Given the description of an element on the screen output the (x, y) to click on. 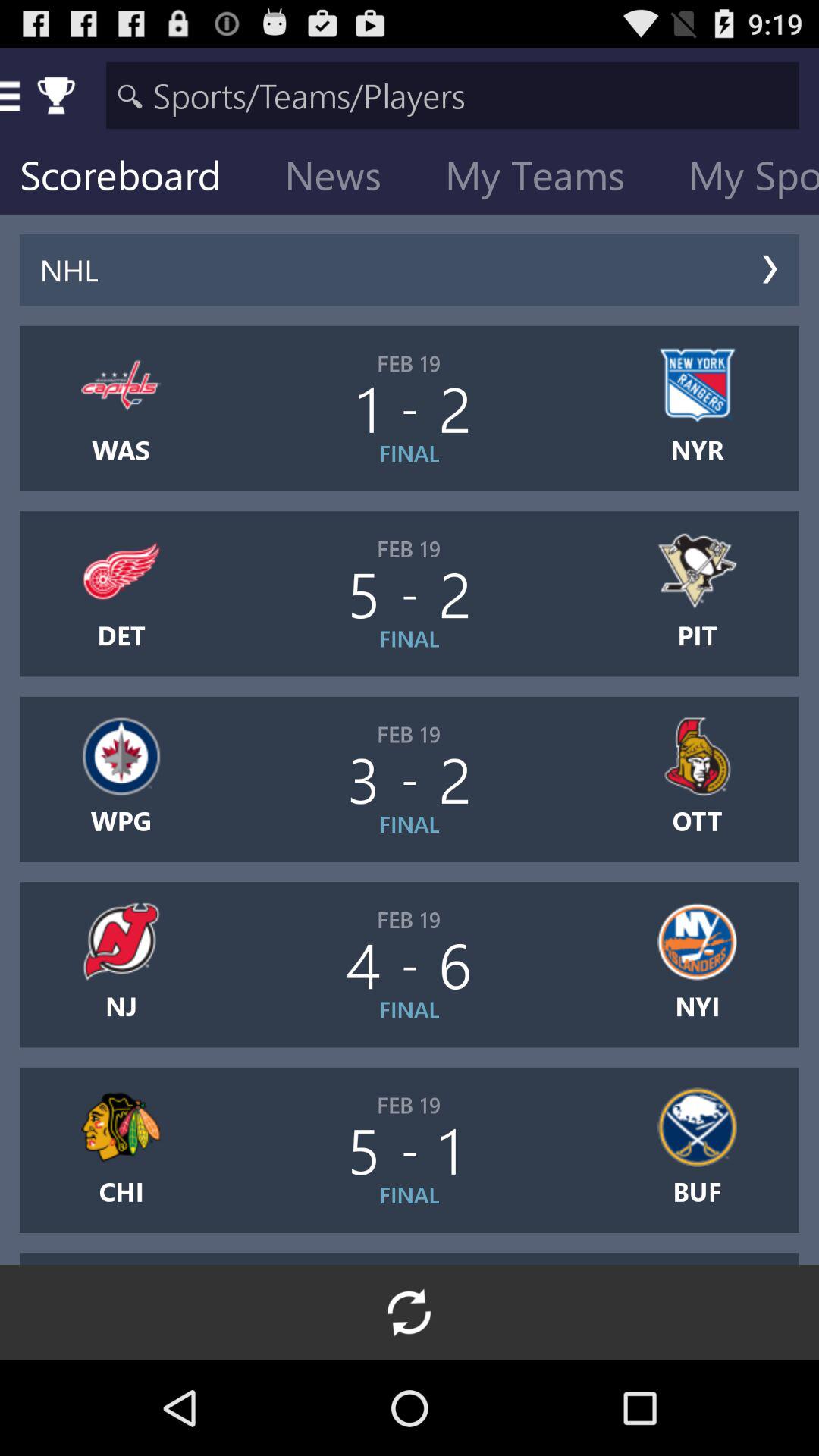
select the icon next to the scoreboard icon (345, 178)
